Given the description of an element on the screen output the (x, y) to click on. 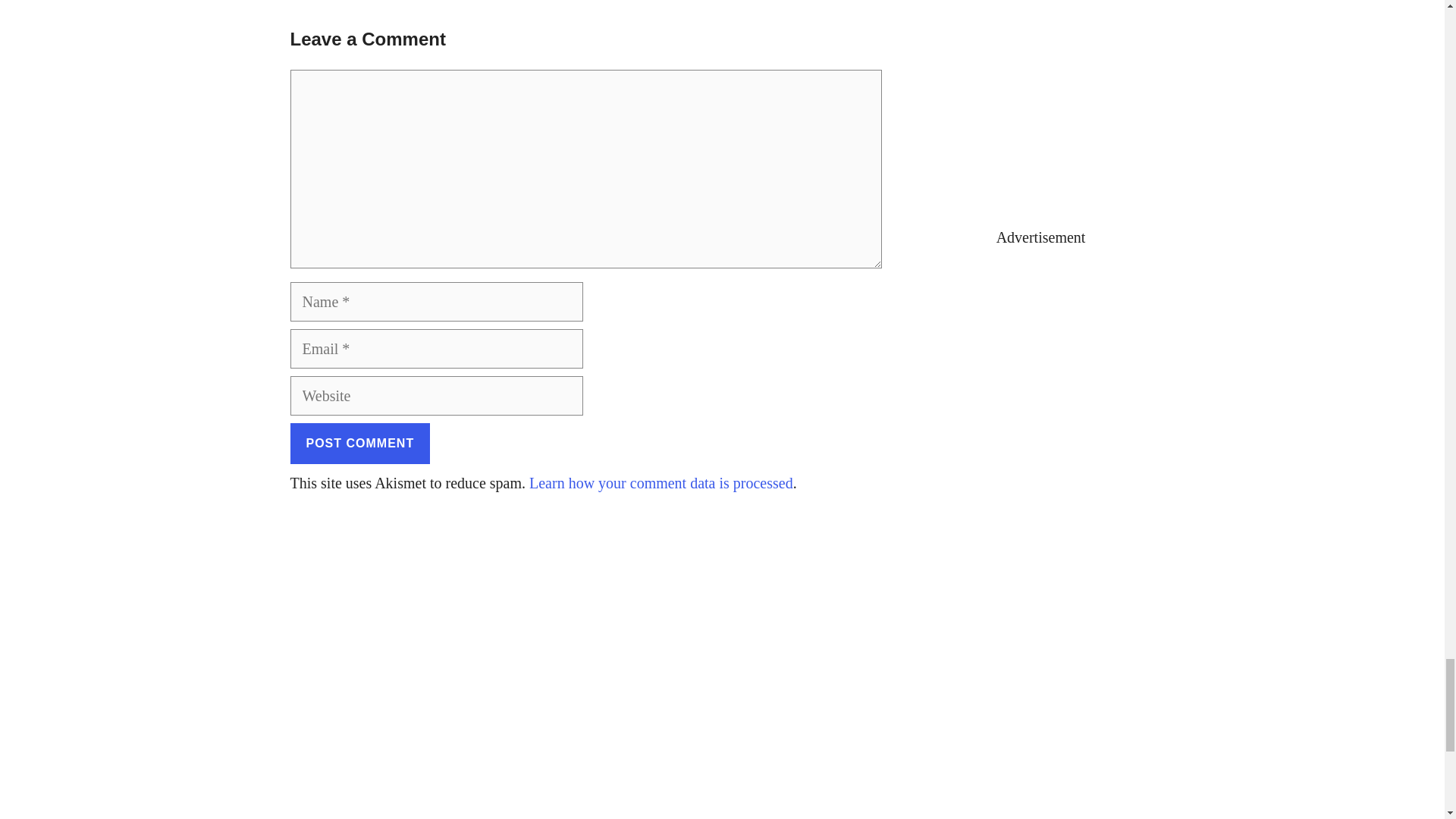
Post Comment (359, 443)
